Given the description of an element on the screen output the (x, y) to click on. 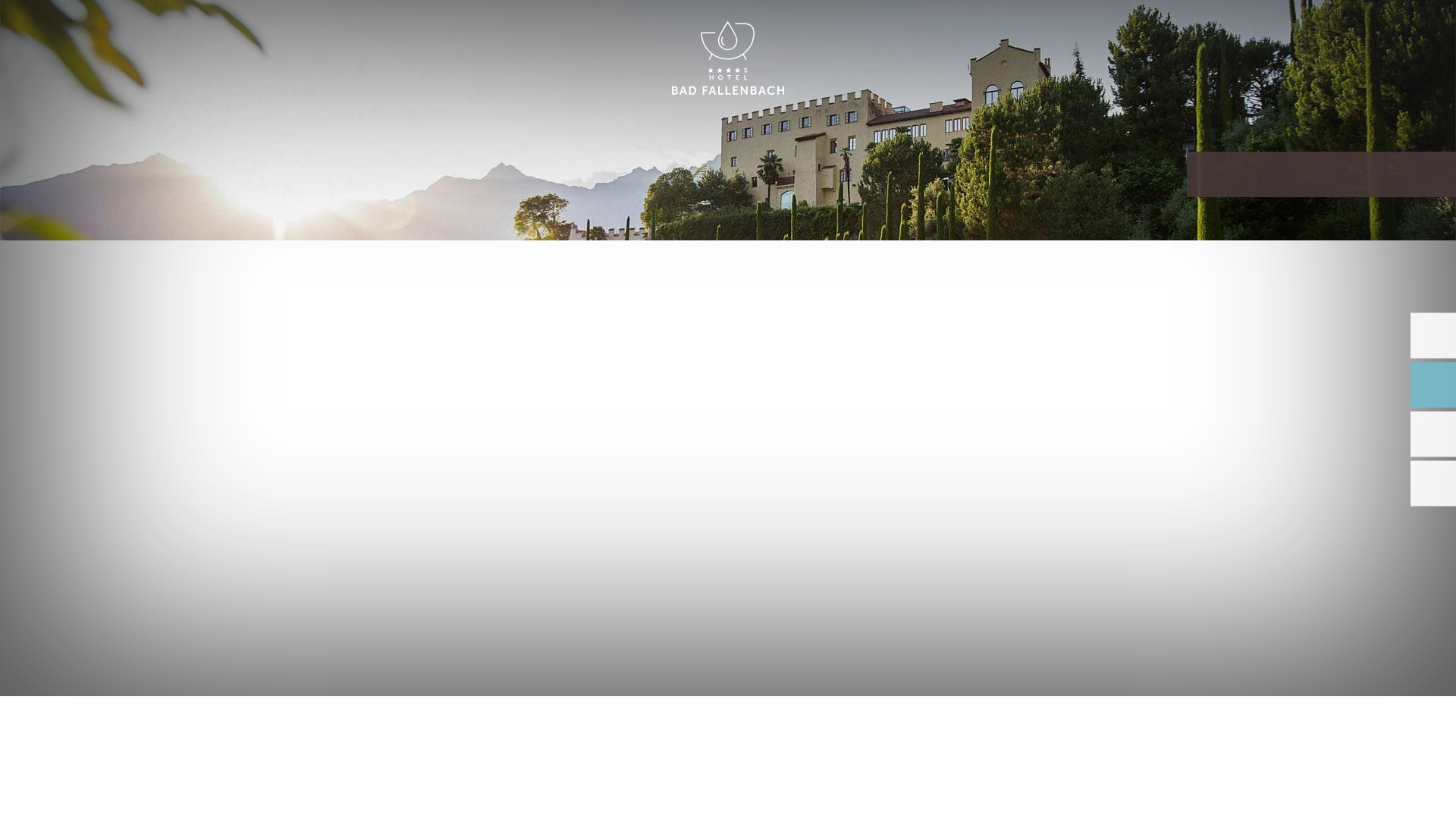
ENGLISH (1291, 29)
HOTEL BAD FALLENBACH (727, 59)
